Given the description of an element on the screen output the (x, y) to click on. 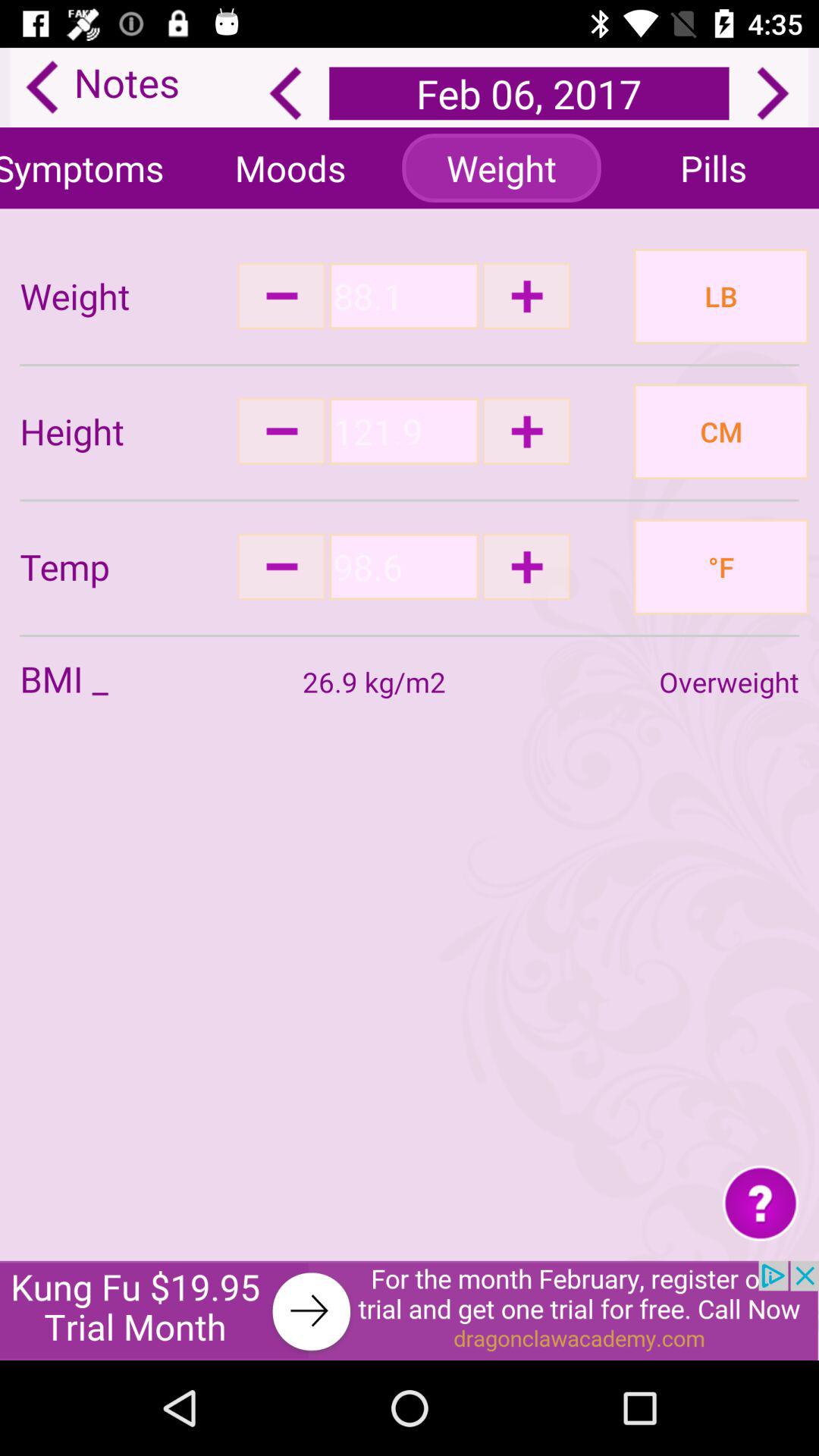
go to next (772, 93)
